Given the description of an element on the screen output the (x, y) to click on. 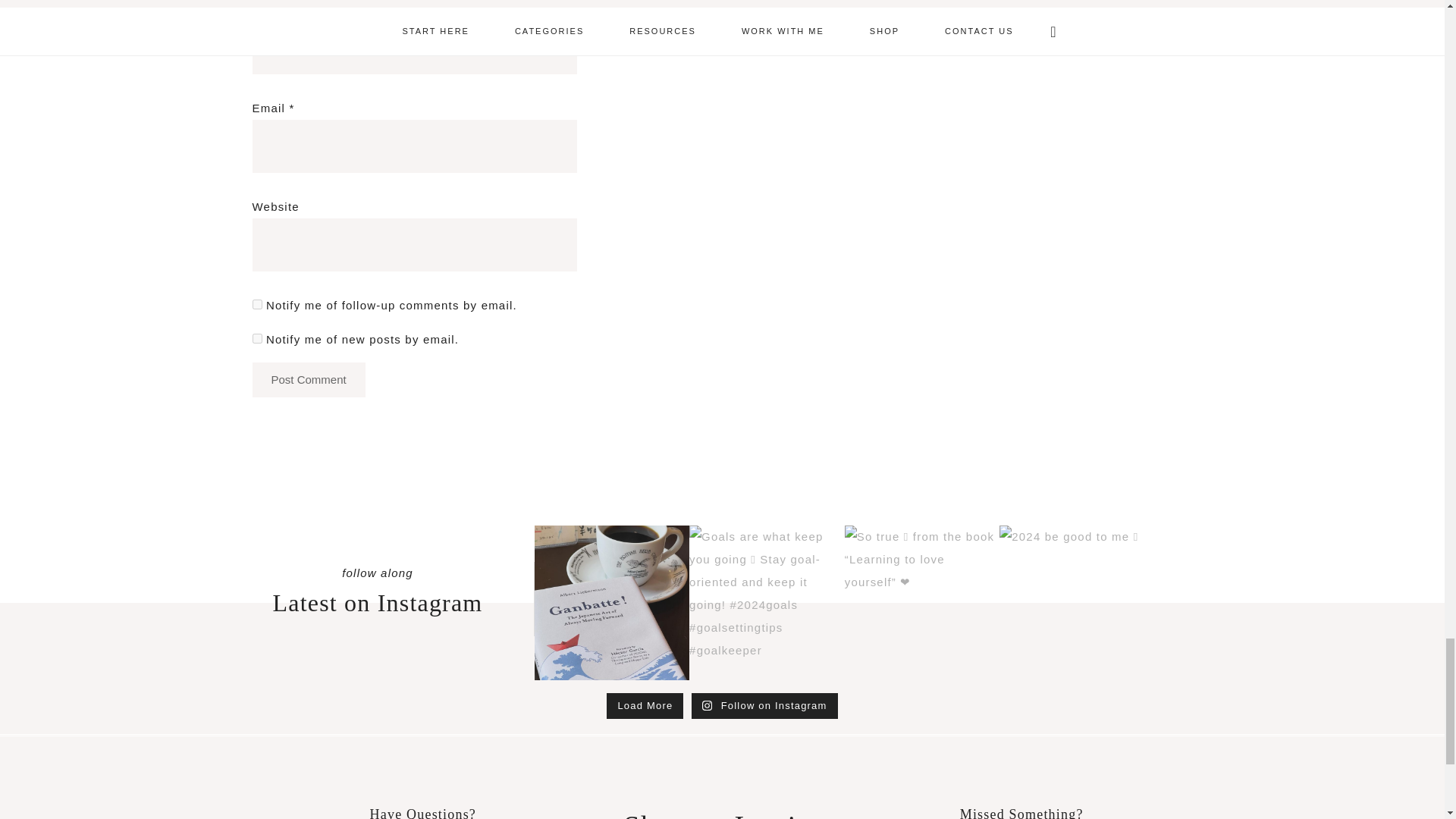
subscribe (256, 338)
subscribe (256, 304)
Post Comment (308, 379)
